Given the description of an element on the screen output the (x, y) to click on. 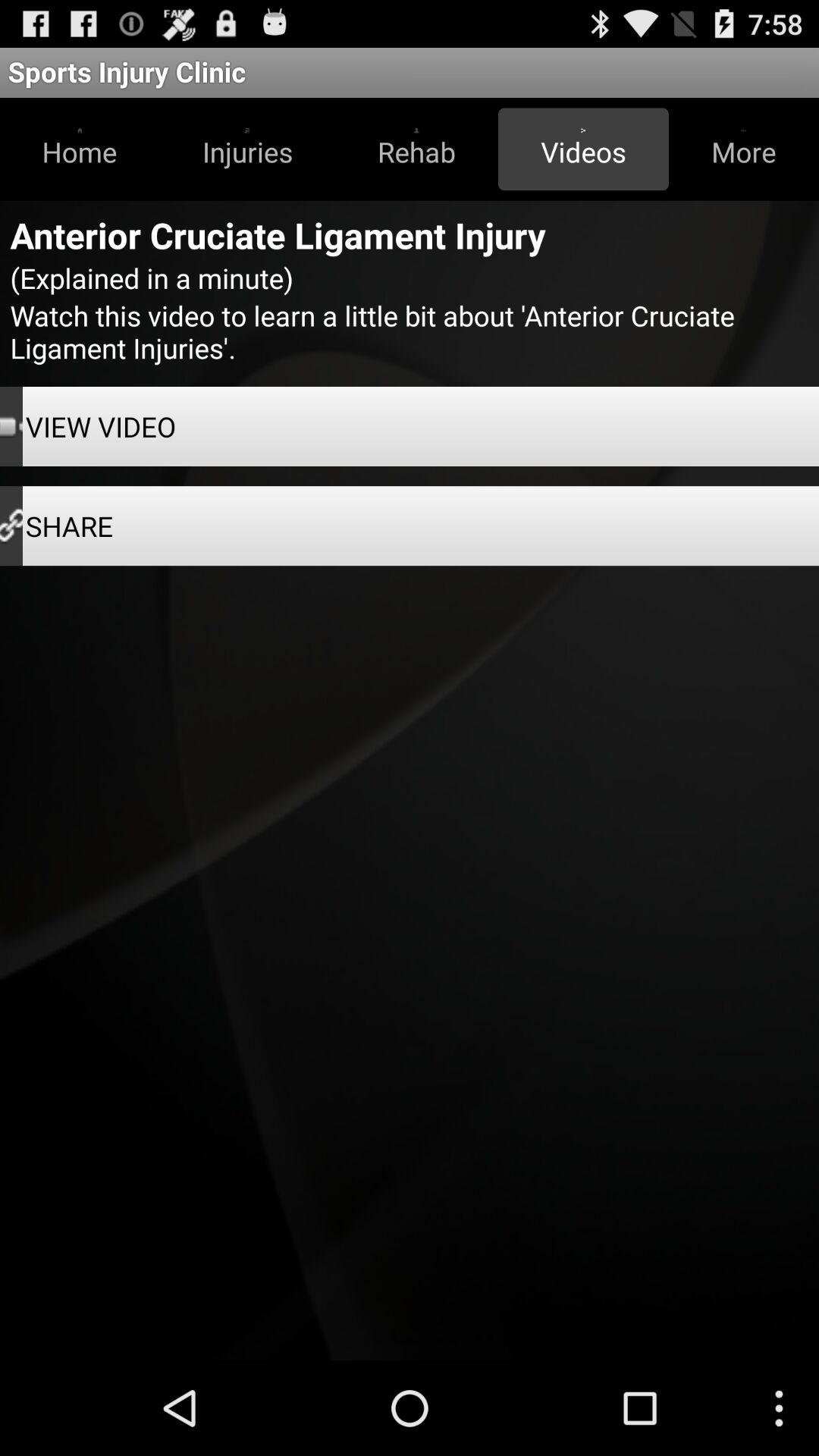
click button to the left of videos item (416, 149)
